Given the description of an element on the screen output the (x, y) to click on. 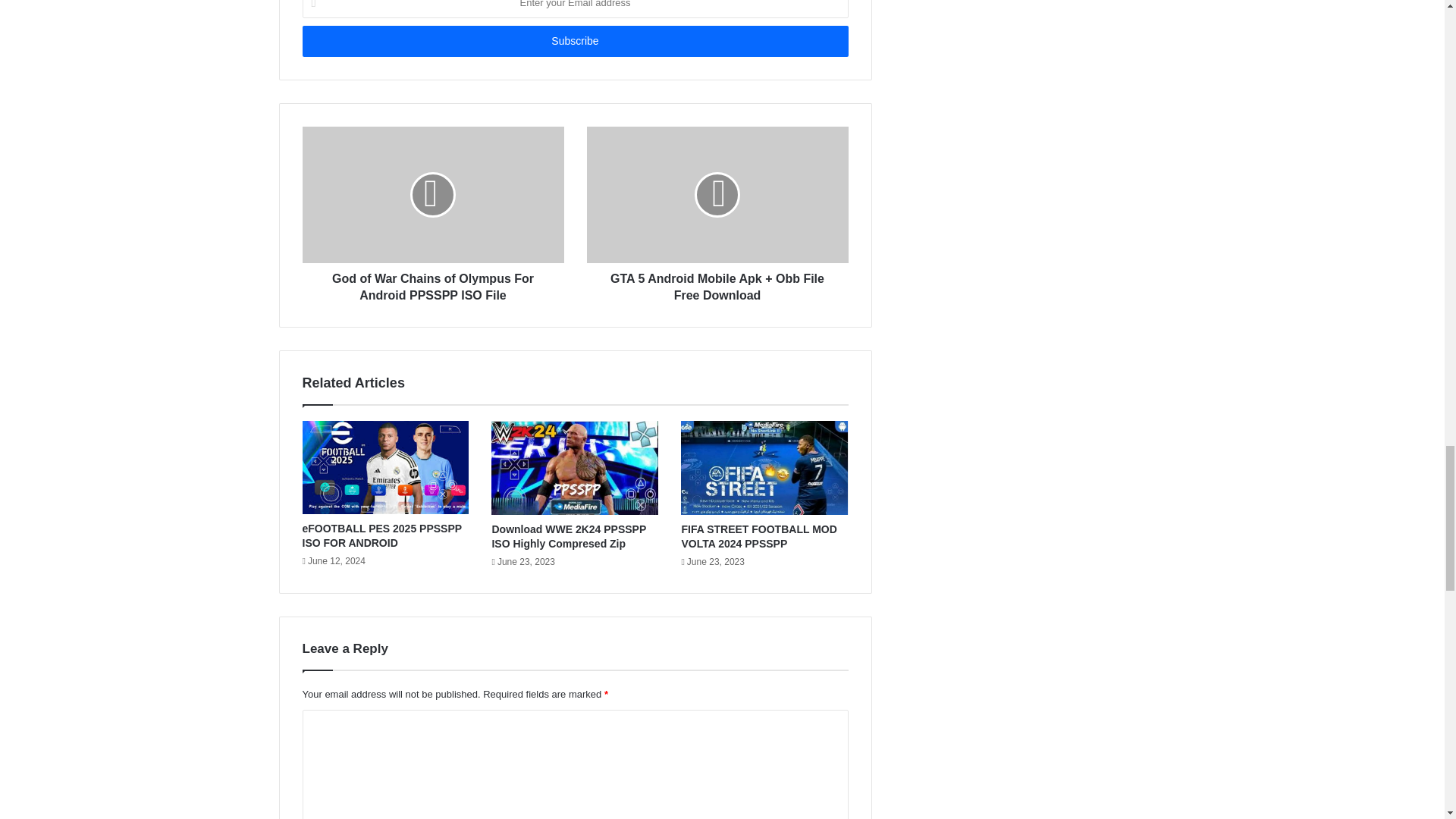
Subscribe (574, 40)
